Given the description of an element on the screen output the (x, y) to click on. 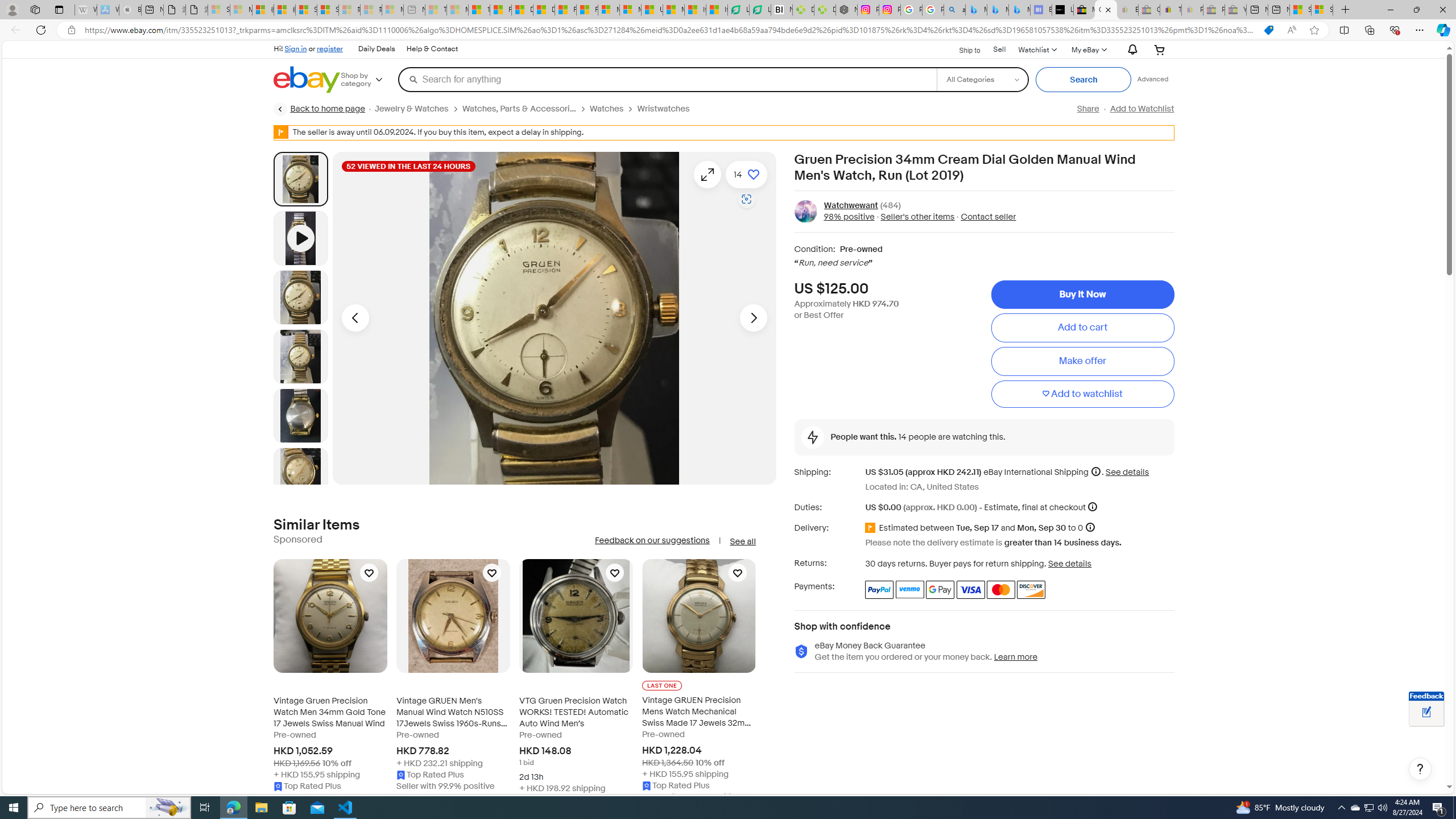
register (329, 48)
Search for anything (666, 78)
Select a category for search (981, 78)
Shanghai, China hourly forecast | Microsoft Weather (1300, 9)
Picture 3 of 13 (300, 356)
Picture 4 of 13 (300, 415)
WARNING (280, 131)
